Given the description of an element on the screen output the (x, y) to click on. 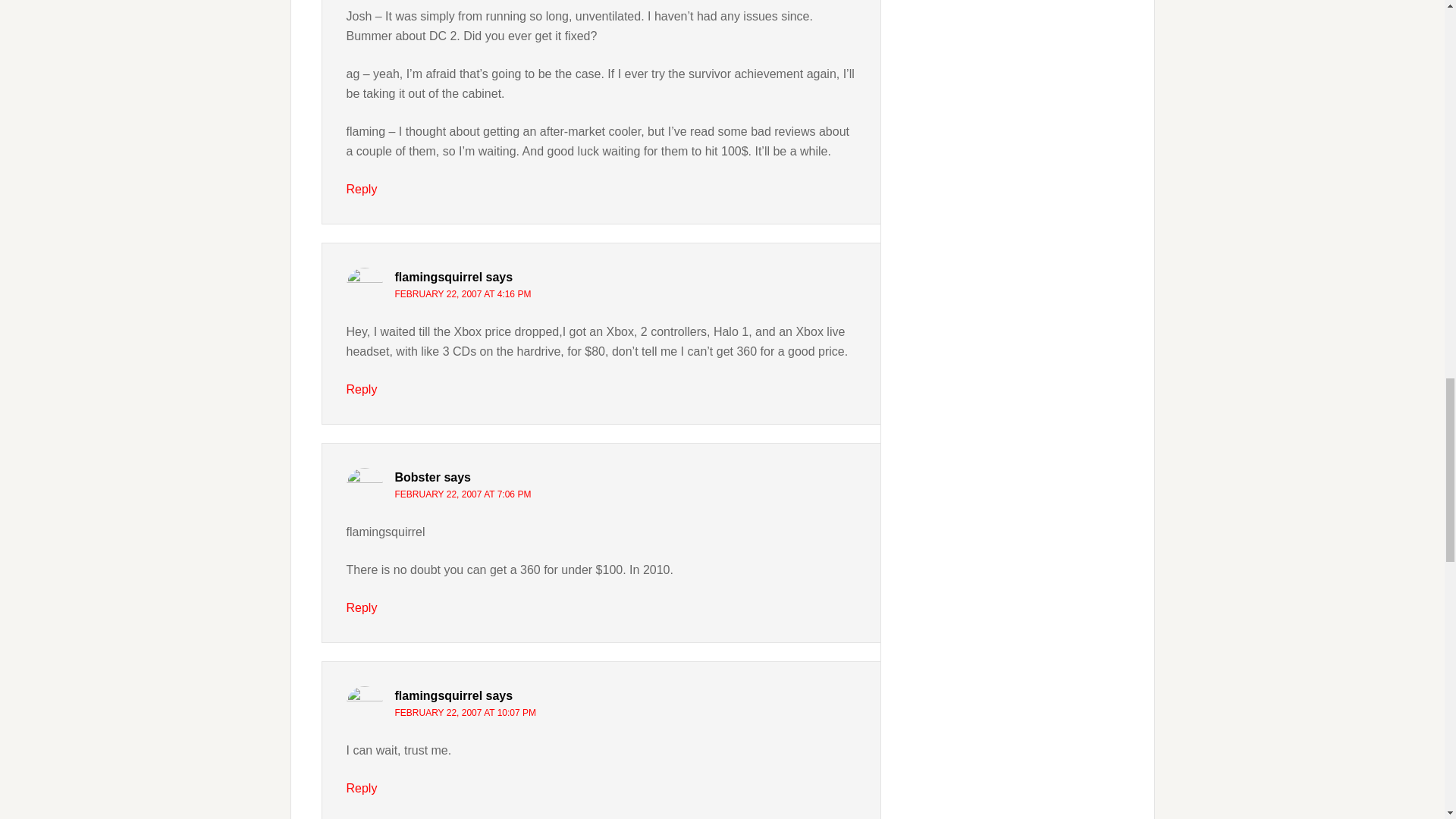
FEBRUARY 22, 2007 AT 10:07 PM (464, 712)
FEBRUARY 22, 2007 AT 4:16 PM (462, 294)
FEBRUARY 22, 2007 AT 7:06 PM (462, 493)
Reply (361, 188)
Reply (361, 607)
Reply (361, 389)
Reply (361, 788)
